Given the description of an element on the screen output the (x, y) to click on. 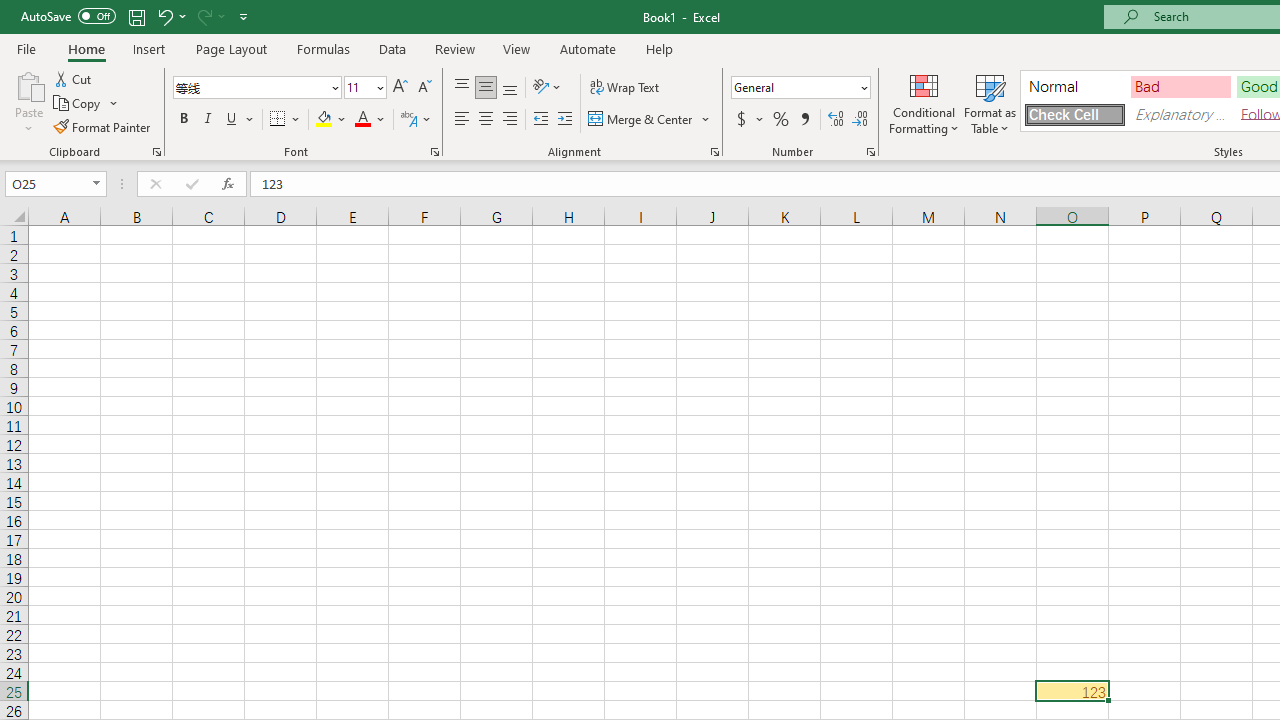
Open (96, 183)
Fill Color RGB(255, 255, 0) (324, 119)
Accounting Number Format (749, 119)
Font Size (365, 87)
Undo (170, 15)
Insert (149, 48)
System (10, 11)
Page Layout (230, 48)
Font (250, 87)
Data (392, 48)
Borders (285, 119)
Name Box (56, 183)
Redo (203, 15)
Show Phonetic Field (416, 119)
Font Color RGB(255, 0, 0) (362, 119)
